Given the description of an element on the screen output the (x, y) to click on. 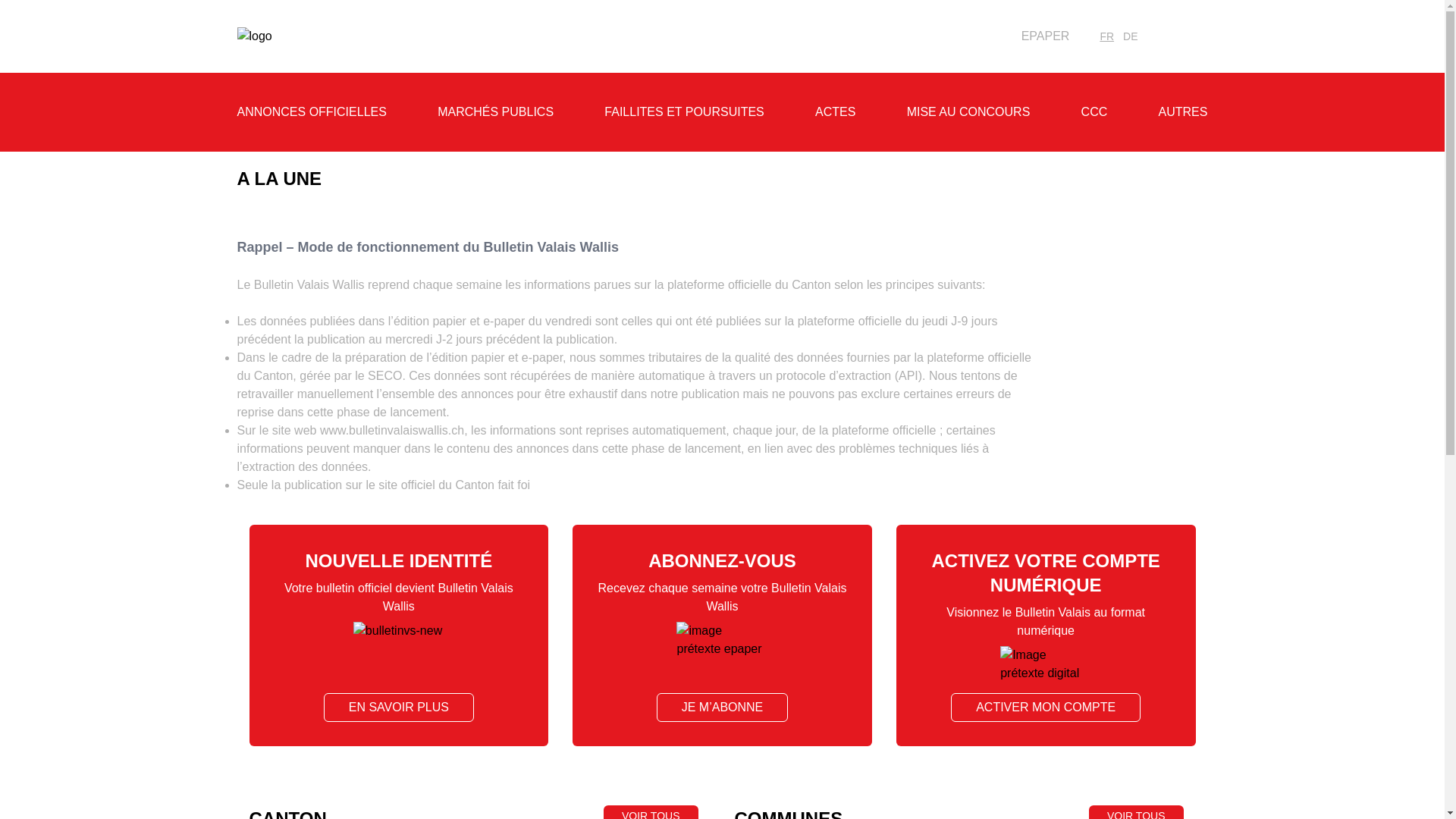
ACTES Element type: text (835, 111)
ACTIVER MON COMPTE Element type: text (1045, 707)
EN SAVOIR PLUS Element type: text (398, 707)
AUTRES Element type: text (1183, 111)
DE Element type: text (1130, 36)
MISE AU CONCOURS Element type: text (968, 111)
FR Element type: text (1106, 36)
CCC Element type: text (1094, 111)
FAILLITES ET POURSUITES Element type: text (683, 111)
EPAPER Element type: text (1036, 36)
ANNONCES OFFICIELLES Element type: text (310, 111)
